Given the description of an element on the screen output the (x, y) to click on. 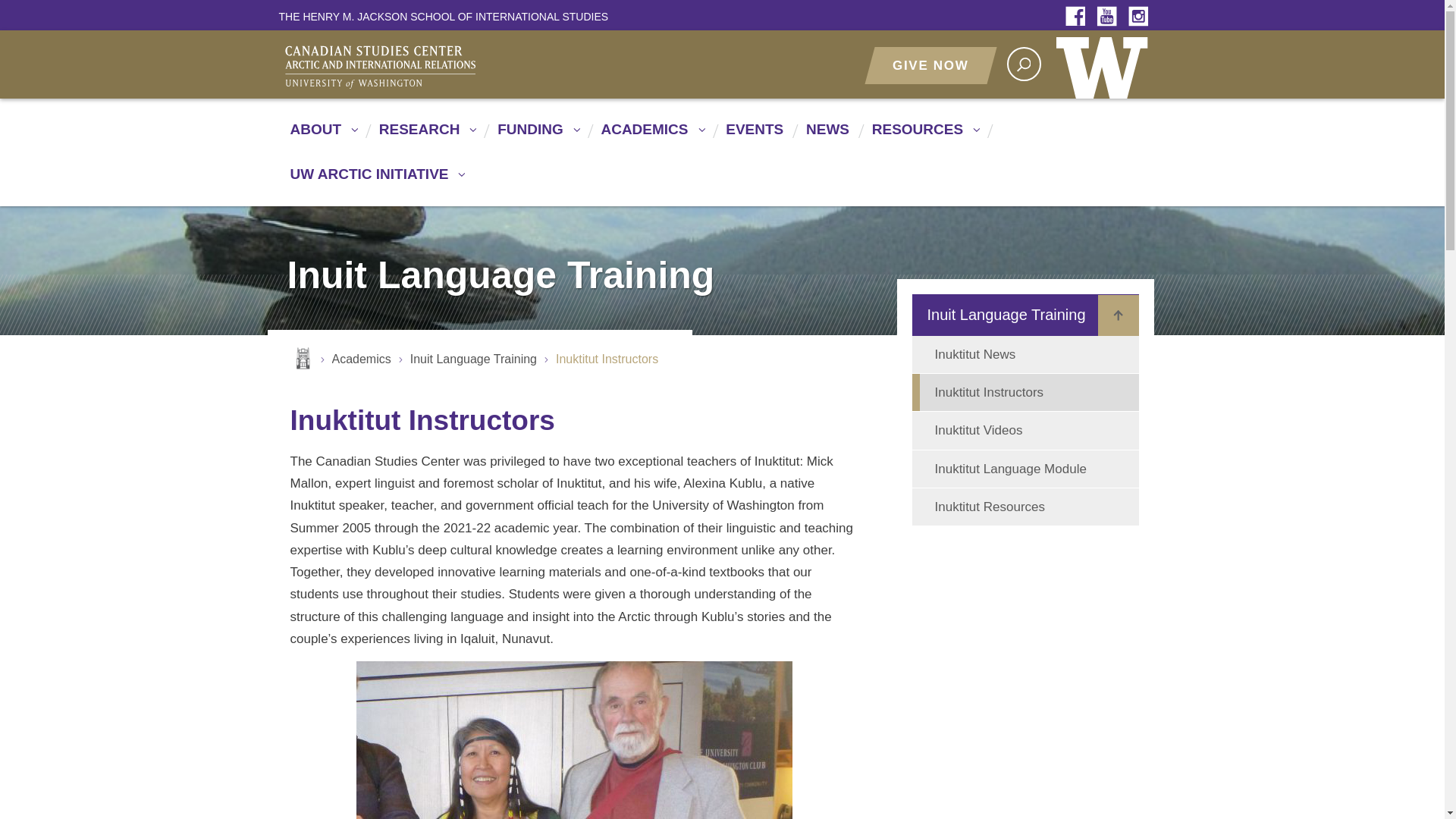
EVENTS (752, 135)
University of Washington Home (1104, 64)
Give Now (930, 65)
RESEARCH (425, 135)
THE HENRY M. JACKSON SCHOOL OF INTERNATIONAL STUDIES (443, 16)
About (322, 135)
FACEBOOK (1079, 17)
Canadian Studies Center (449, 65)
Research (425, 135)
ABOUT (322, 135)
Facebook (1079, 17)
ACADEMICS (649, 135)
University of Washington (1104, 64)
Youtube (1110, 17)
